Given the description of an element on the screen output the (x, y) to click on. 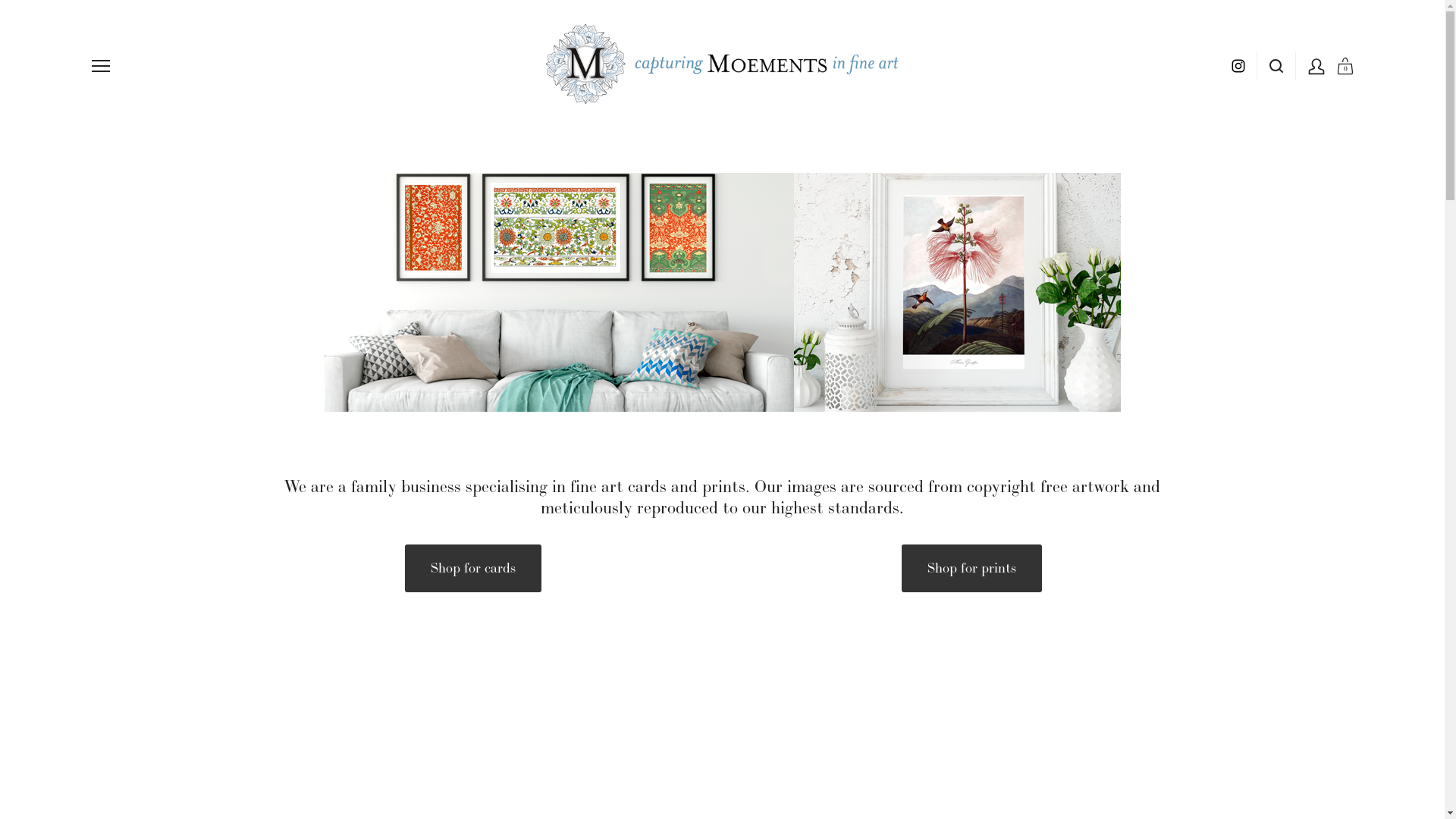
Shop for prints Element type: text (970, 568)
Shop for cards Element type: text (472, 568)
0 Element type: text (1339, 65)
